Given the description of an element on the screen output the (x, y) to click on. 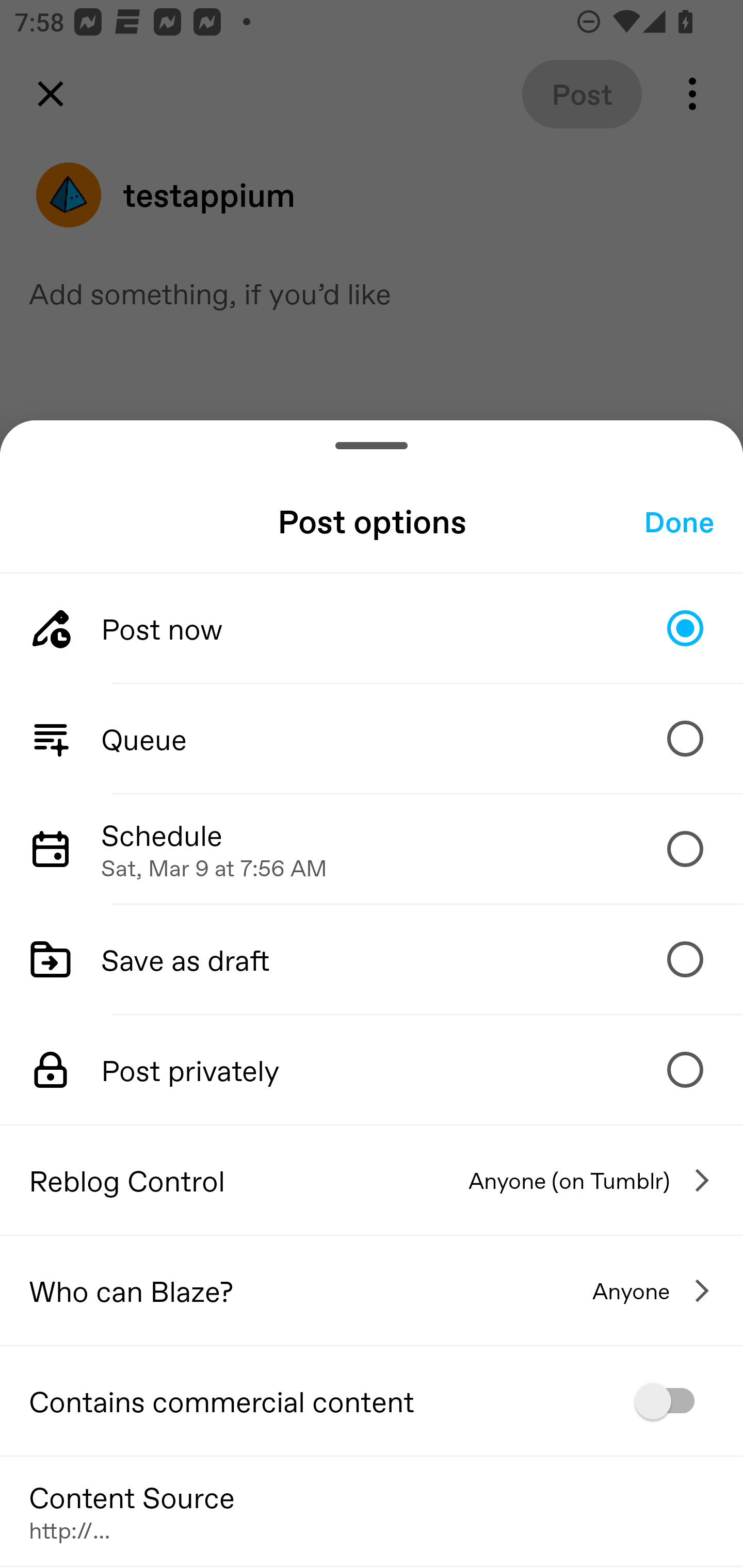
Done (679, 521)
Post now (371, 627)
Queue (371, 739)
Schedule Sat, Mar 9 at 7:56 AM (371, 848)
Save as draft (371, 958)
Post privately (371, 1070)
Reblog Control Anyone (on Tumblr) (371, 1179)
Who can Blaze? Anyone (371, 1290)
Contains commercial content (371, 1400)
Content Source http://… (371, 1510)
